Given the description of an element on the screen output the (x, y) to click on. 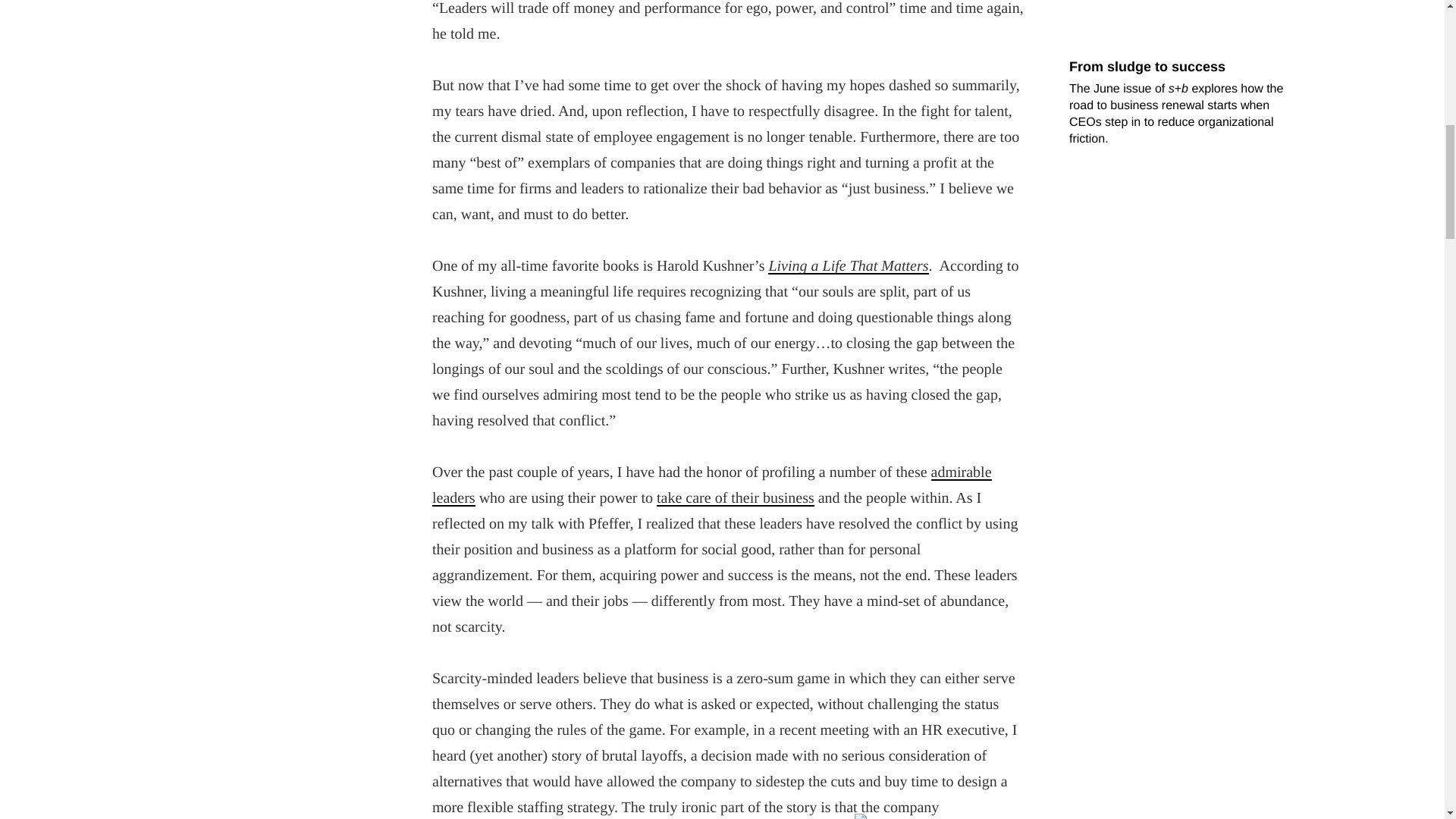
Illustration of flying birds delivering information (1033, 23)
